Given the description of an element on the screen output the (x, y) to click on. 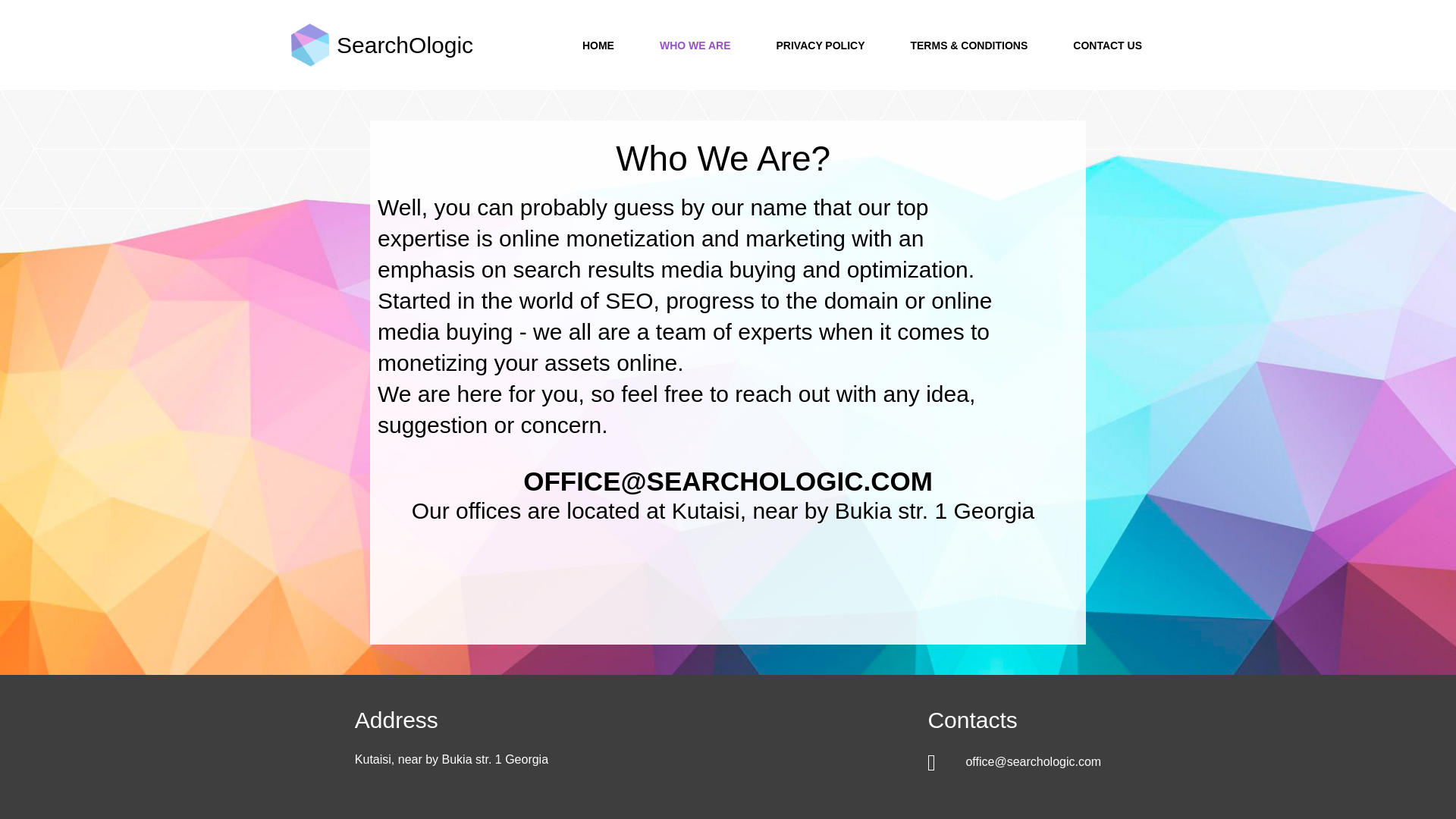
PRIVACY POLICY (821, 44)
HOME (598, 44)
WHO WE ARE (695, 44)
CONTACT US (1106, 44)
